Given the description of an element on the screen output the (x, y) to click on. 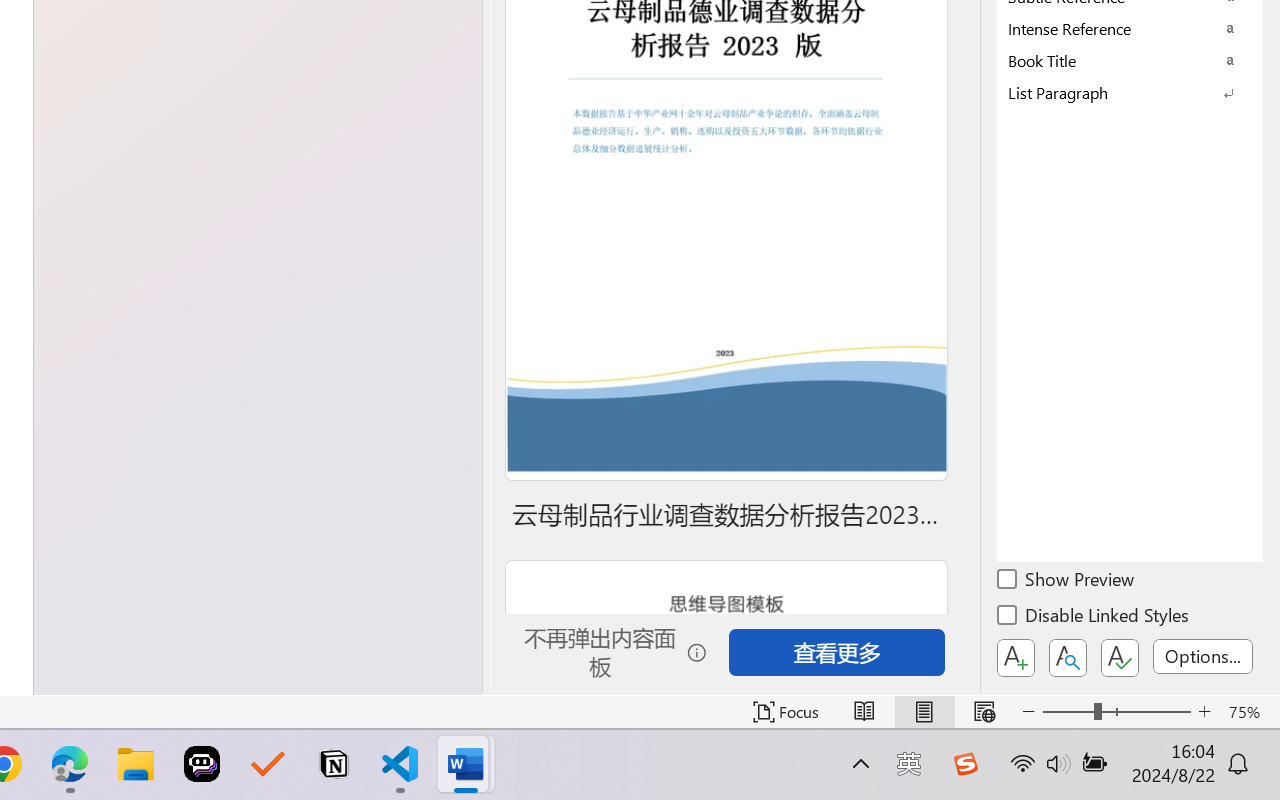
Disable Linked Styles (1094, 618)
Options... (1203, 656)
Intense Reference (1130, 28)
